Given the description of an element on the screen output the (x, y) to click on. 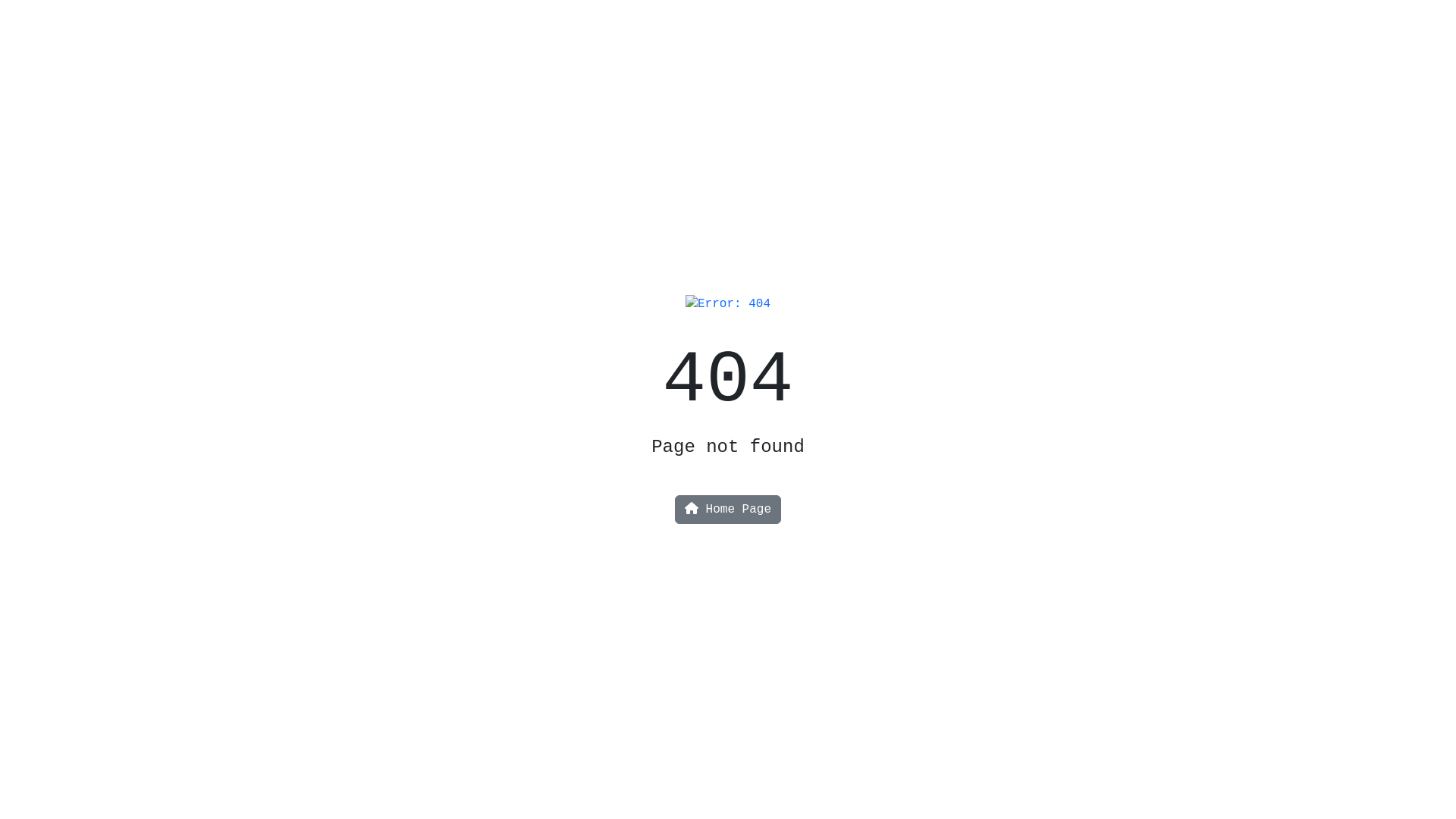
Home Page Element type: text (727, 509)
